Given the description of an element on the screen output the (x, y) to click on. 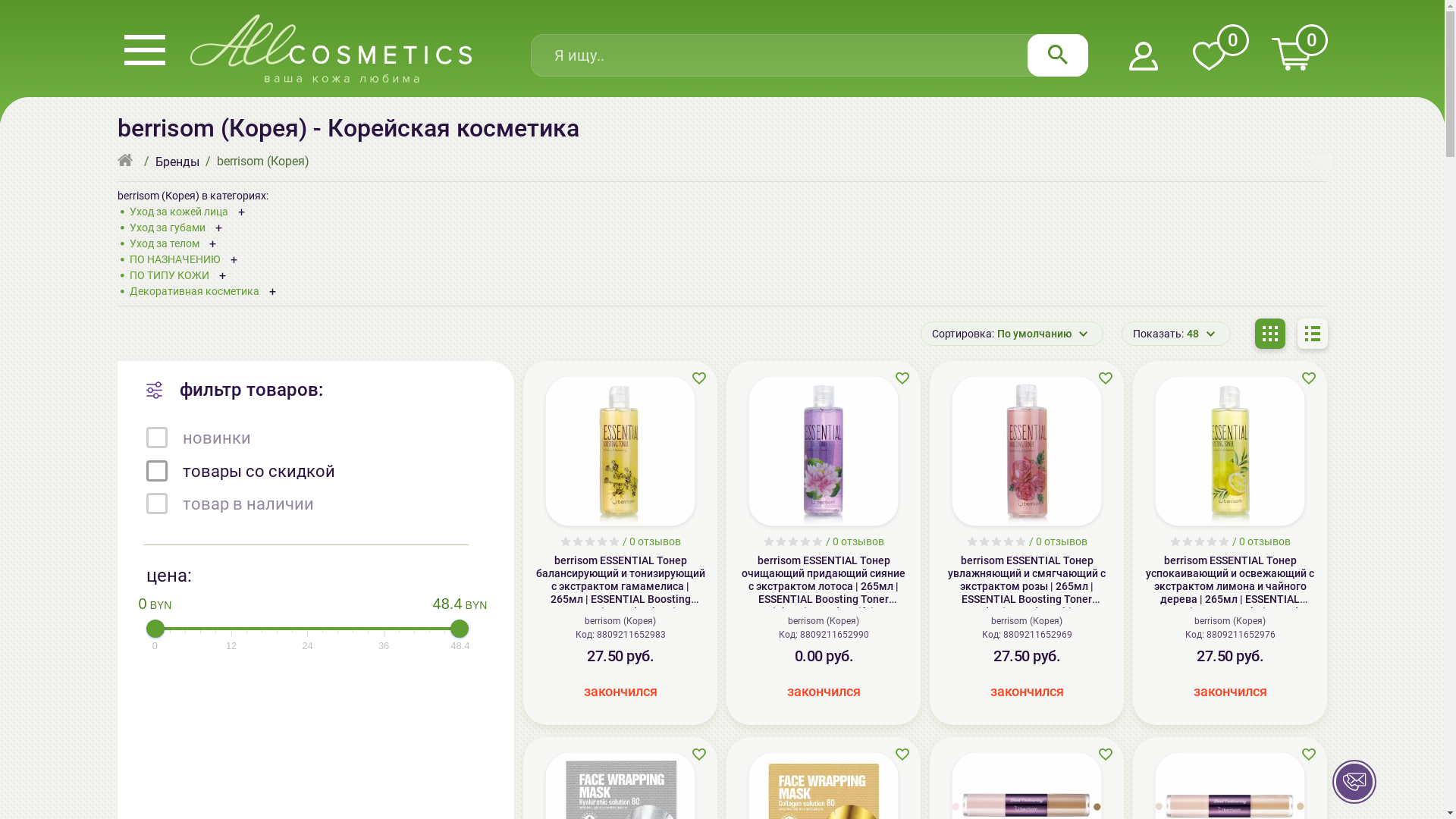
0 Element type: text (1290, 54)
0 Element type: text (1208, 56)
